Given the description of an element on the screen output the (x, y) to click on. 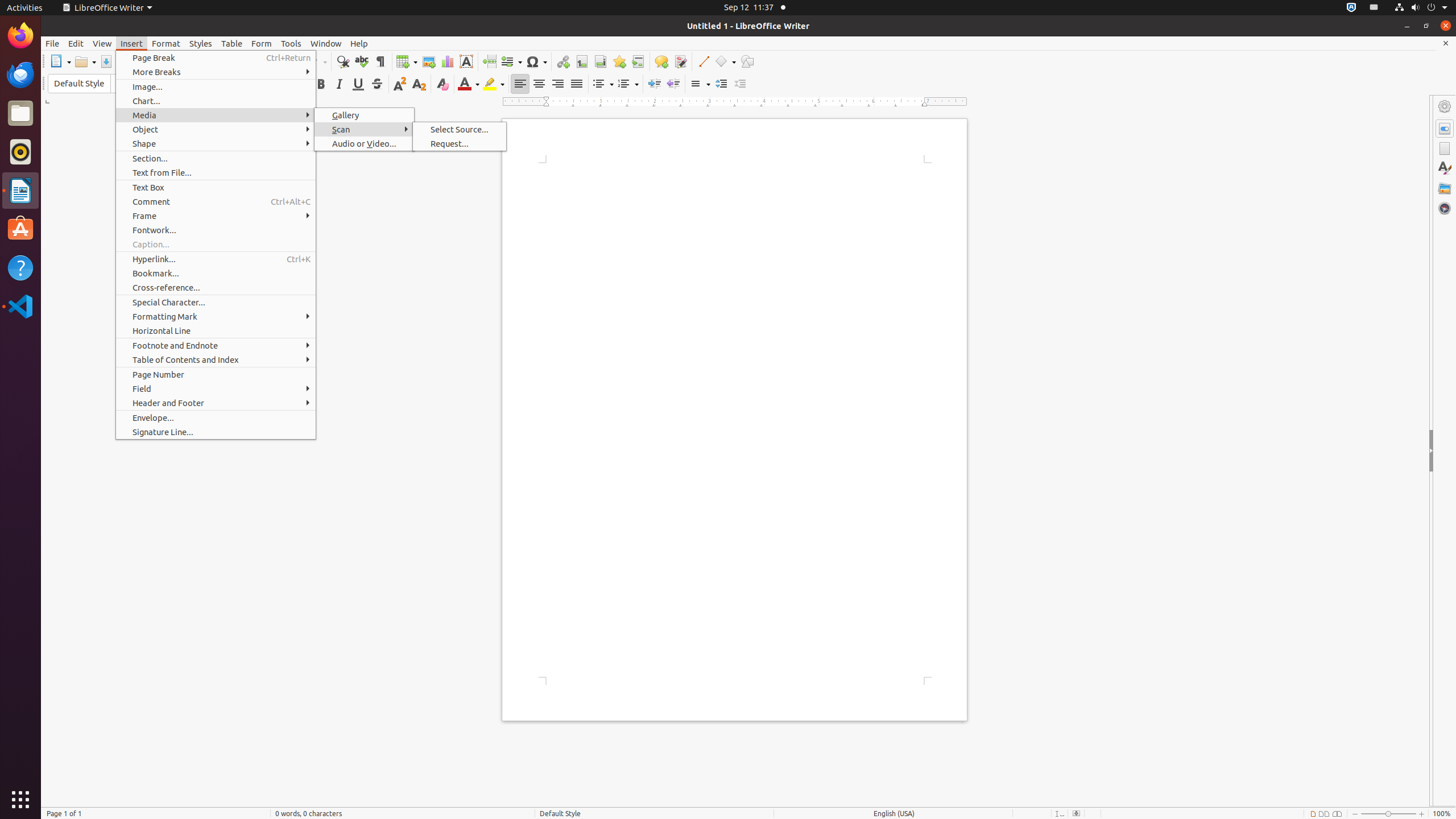
Strikethrough Element type: toggle-button (376, 83)
Cross-reference Element type: push-button (637, 61)
Select Source... Element type: menu-item (459, 129)
Show Applications Element type: toggle-button (20, 799)
Shape Element type: menu (215, 143)
